Given the description of an element on the screen output the (x, y) to click on. 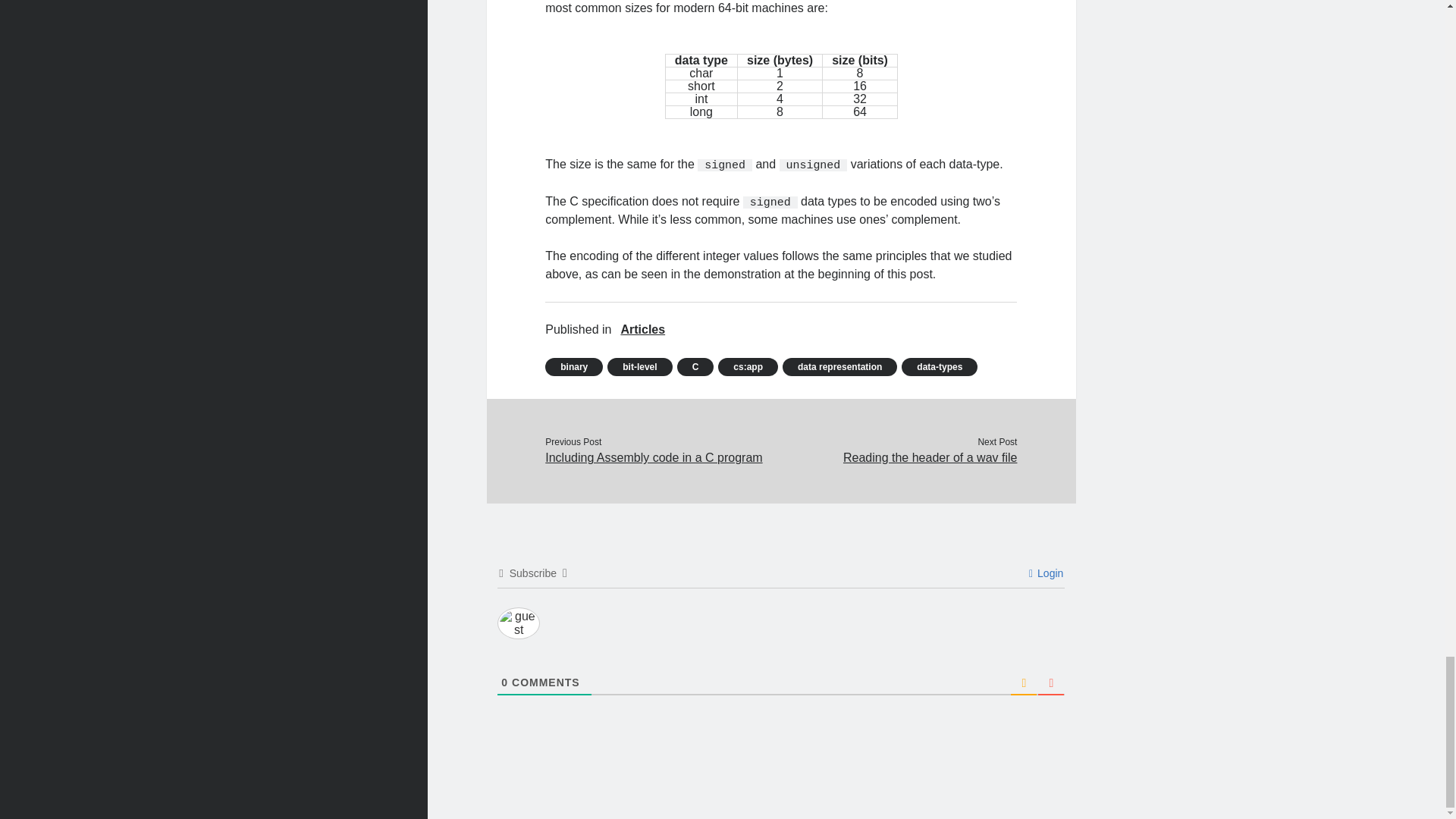
View all posts tagged binary (573, 366)
View all posts tagged cs:app (747, 366)
View all posts tagged bit-level (639, 366)
View all posts in Articles (642, 330)
View all posts tagged data representation (839, 366)
View all posts tagged data-types (938, 366)
View all posts tagged C (695, 366)
